Given the description of an element on the screen output the (x, y) to click on. 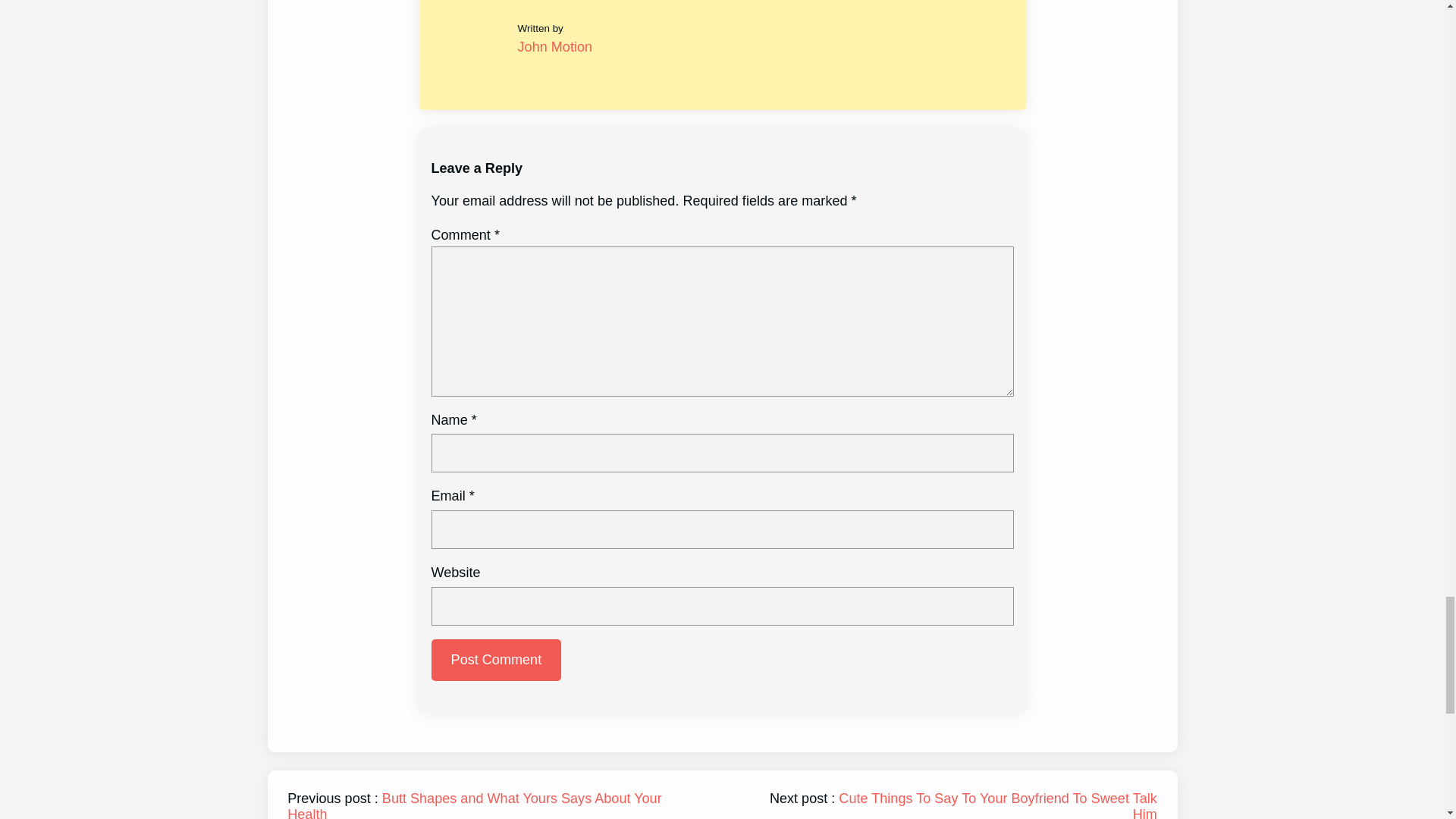
Post Comment (495, 659)
Cute Things To Say To Your Boyfriend To Sweet Talk Him (997, 805)
Post Comment (495, 659)
John Motion (555, 46)
Butt Shapes and What Yours Says About Your Health (473, 805)
